Given the description of an element on the screen output the (x, y) to click on. 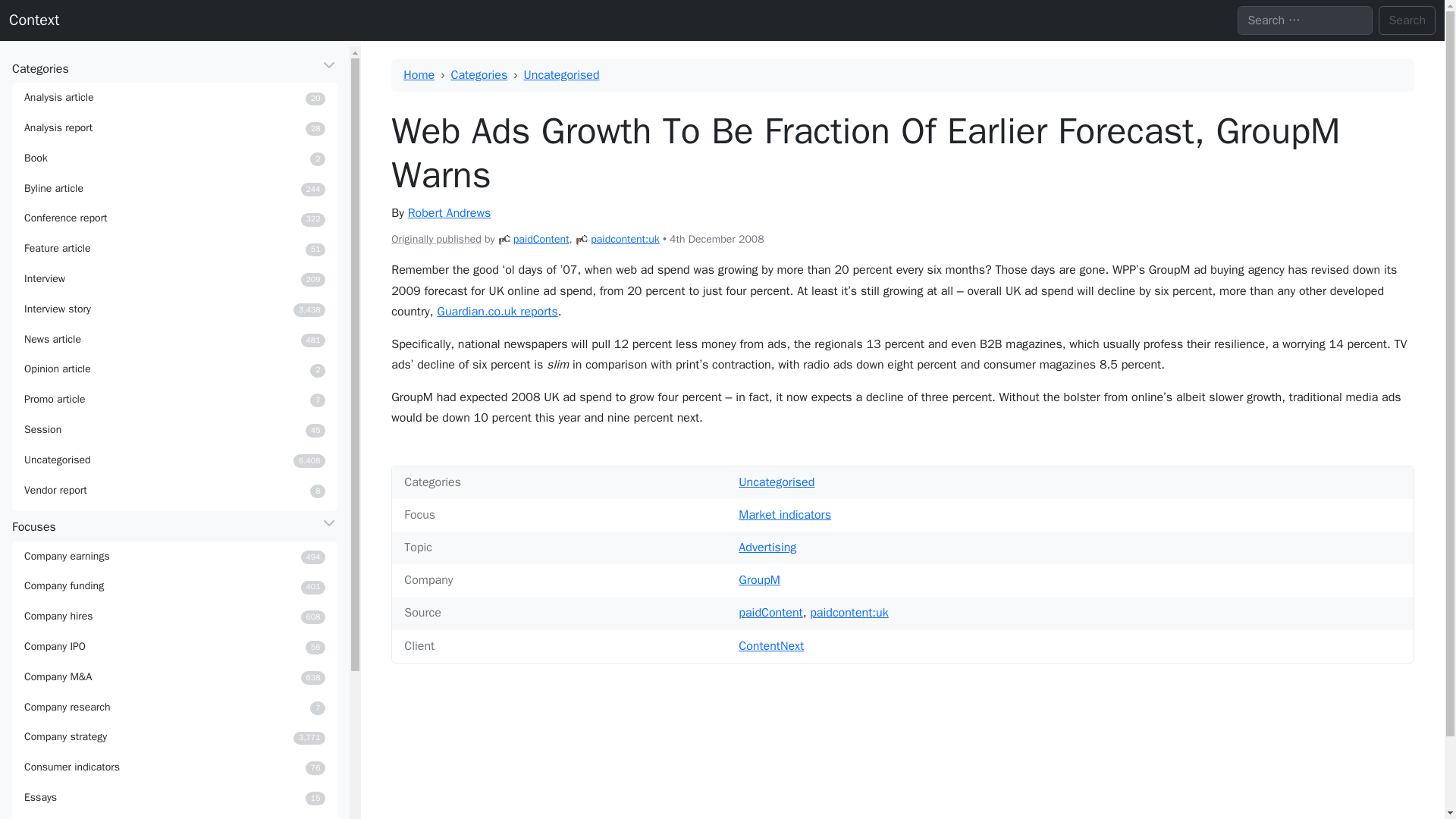
Categories (174, 68)
paidContent (174, 218)
Context (174, 429)
Posts by Robert Andrews (504, 239)
View all posts in paidcontent:uk (33, 19)
Focuses (174, 556)
Guardian.co.uk reports (449, 212)
4th December 2008 (625, 238)
